Given the description of an element on the screen output the (x, y) to click on. 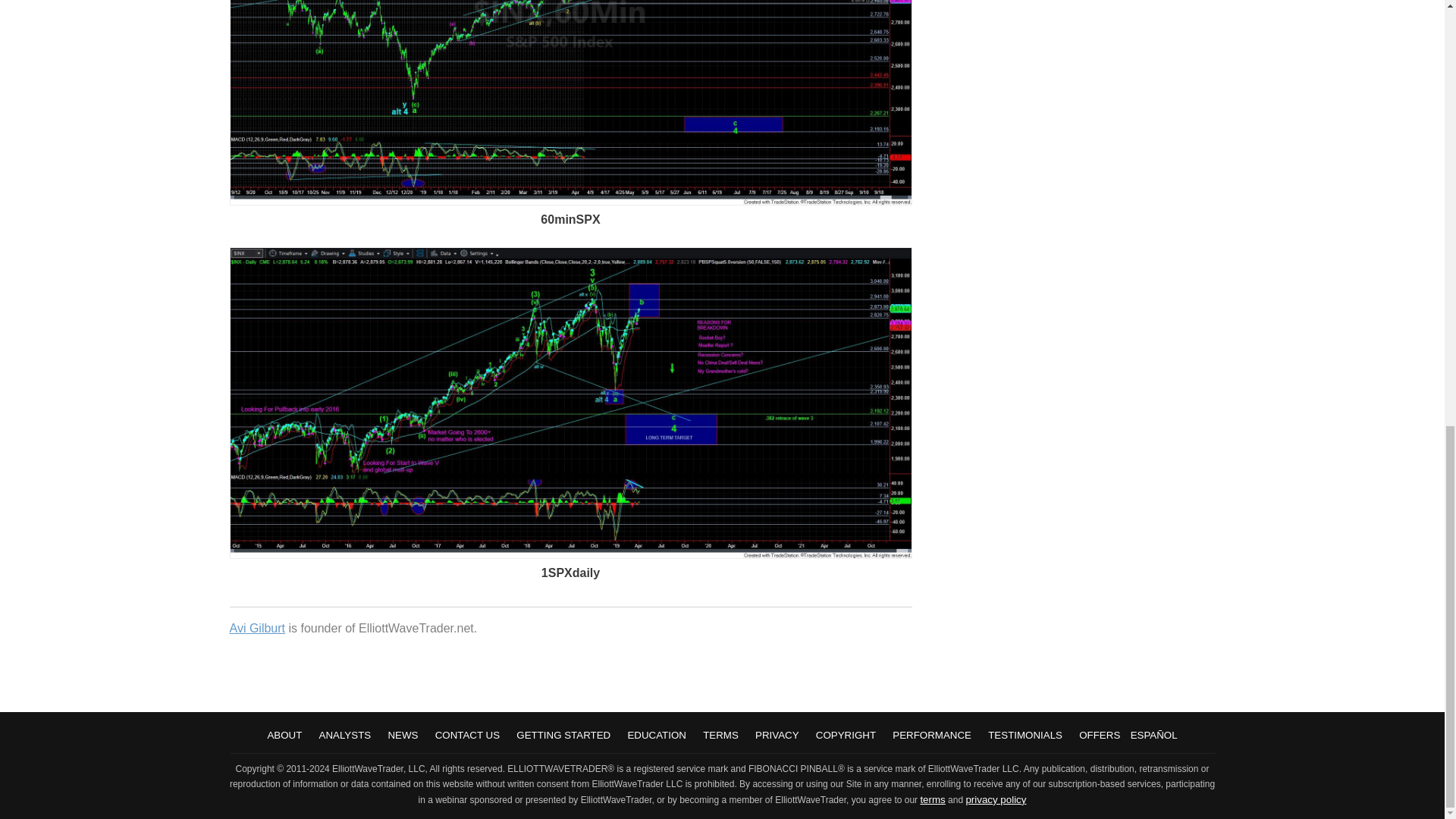
CONTACT US (467, 735)
COPYRIGHT (845, 735)
Avi Gilburt (256, 627)
Click to Enlarge (569, 201)
NEWS (402, 735)
ANALYSTS (344, 735)
PERFORMANCE (931, 735)
TESTIMONIALS (1025, 735)
GETTING STARTED (563, 735)
Click to Enlarge (569, 554)
ABOUT (283, 735)
TERMS (720, 735)
PRIVACY (777, 735)
OFFERS (1098, 735)
EDUCATION (656, 735)
